Given the description of an element on the screen output the (x, y) to click on. 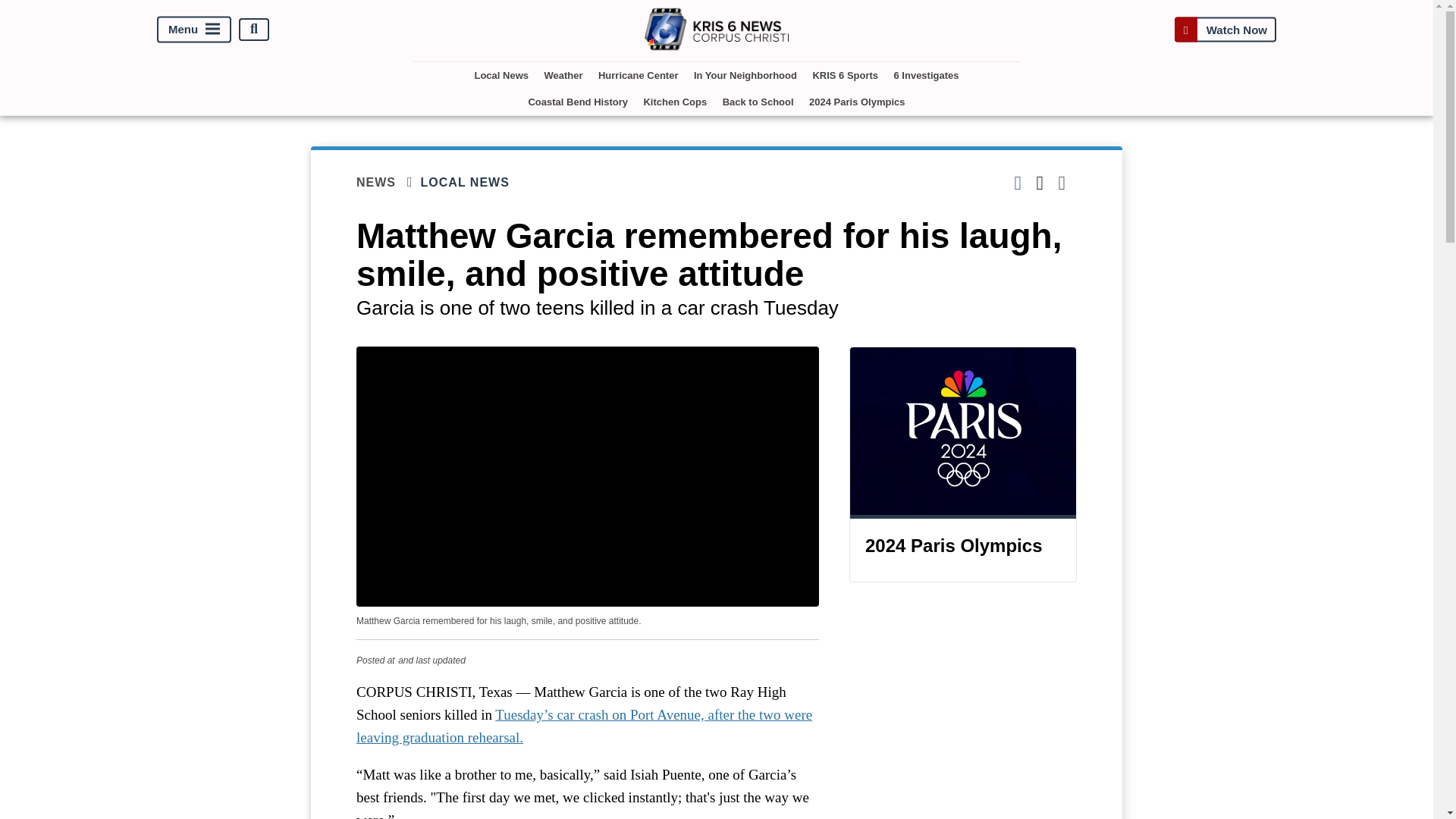
Menu (194, 28)
Watch Now (1224, 29)
